Given the description of an element on the screen output the (x, y) to click on. 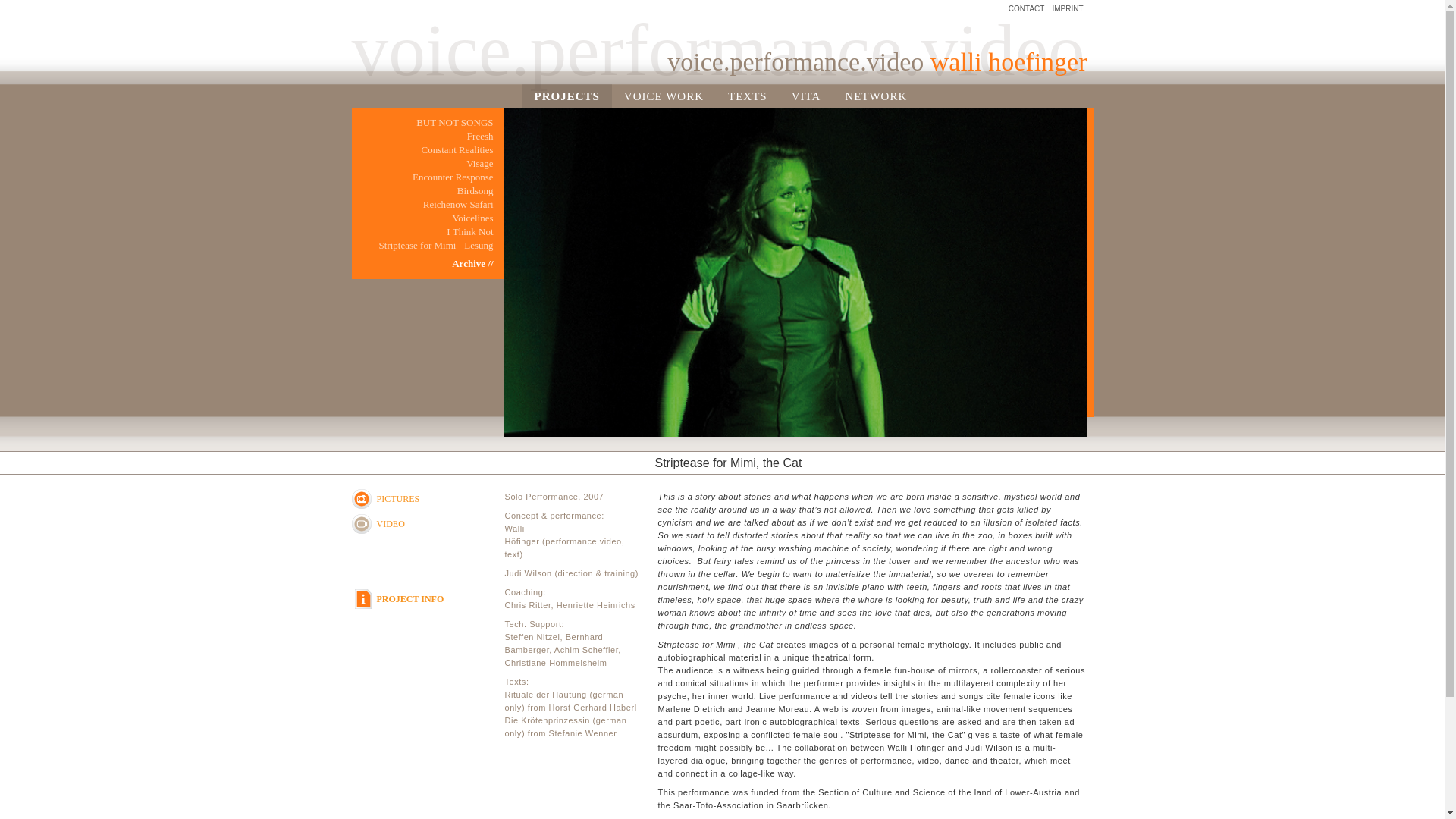
Encounter Response (422, 177)
Reichenow Safari (422, 204)
Constant Realities (422, 150)
PROJECTS (566, 96)
IMPRINT (1067, 8)
VOICE WORK (663, 96)
PROJECT INFO (434, 599)
Visage (422, 163)
BUT NOT SONGS (422, 122)
I Think Not (422, 232)
Voicelines (422, 218)
Freesh (422, 136)
TEXTS (747, 96)
Archive (422, 264)
CONTACT (1027, 8)
